Given the description of an element on the screen output the (x, y) to click on. 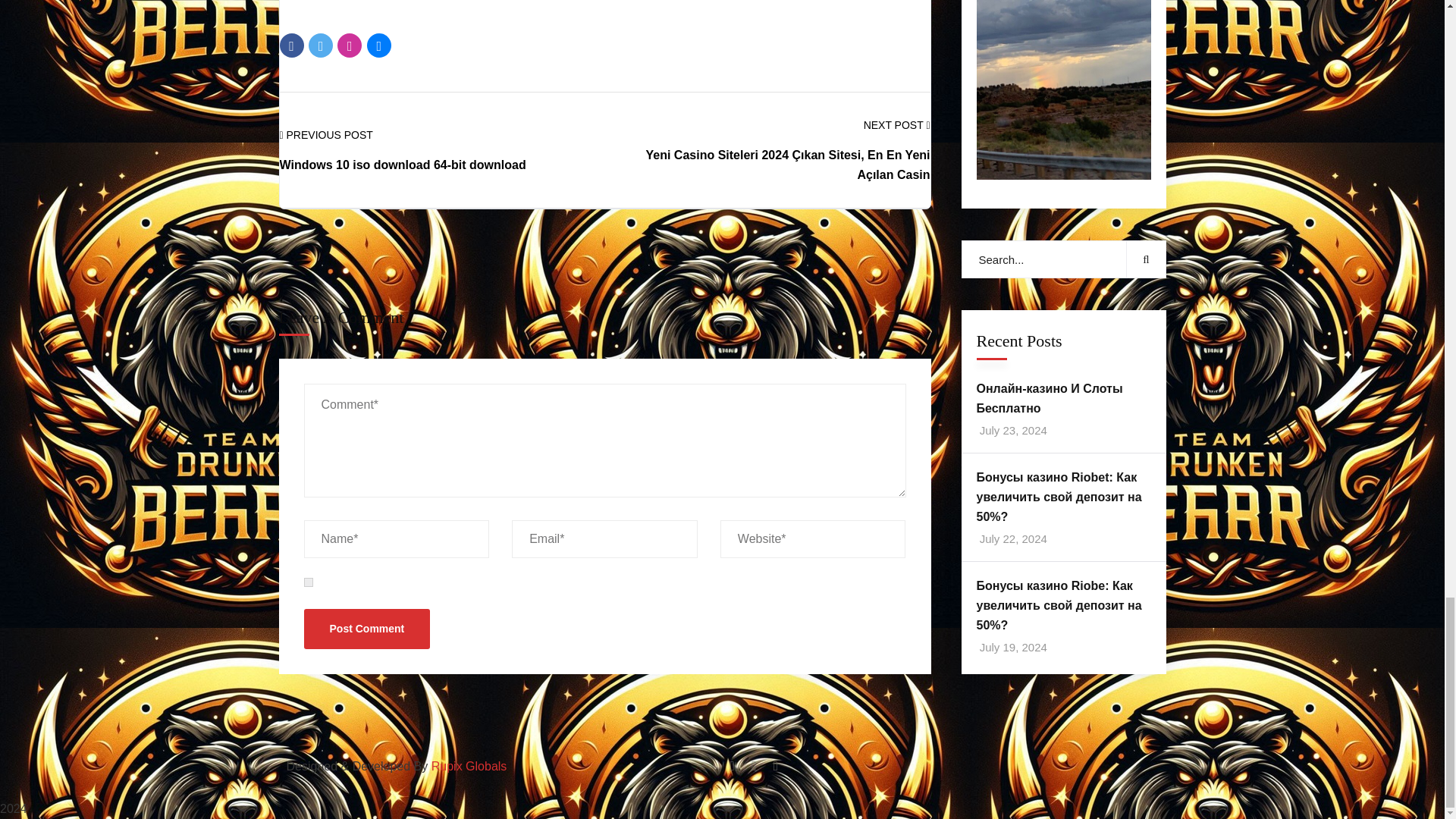
NEXT POST (896, 125)
PREVIOUS POST (325, 135)
Facebook (290, 45)
Post Comment (365, 629)
Rupix Globals (468, 766)
Pinterest (349, 45)
LinkedIn (378, 45)
Windows 10 iso download 64-bit download (402, 164)
Twitter (320, 45)
Post Comment (365, 629)
